Given the description of an element on the screen output the (x, y) to click on. 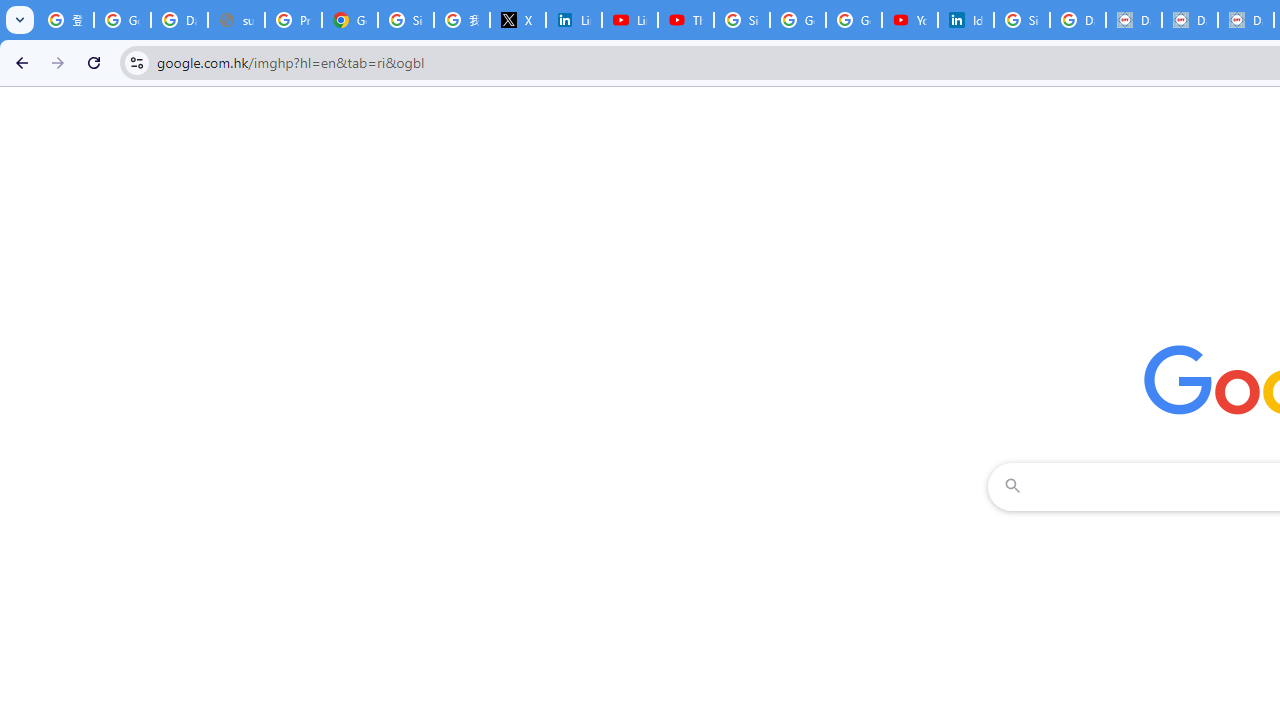
Privacy Help Center - Policies Help (293, 20)
Data Privacy Framework (1190, 20)
Data Privacy Framework (1133, 20)
Sign in - Google Accounts (742, 20)
LinkedIn Privacy Policy (573, 20)
